Given the description of an element on the screen output the (x, y) to click on. 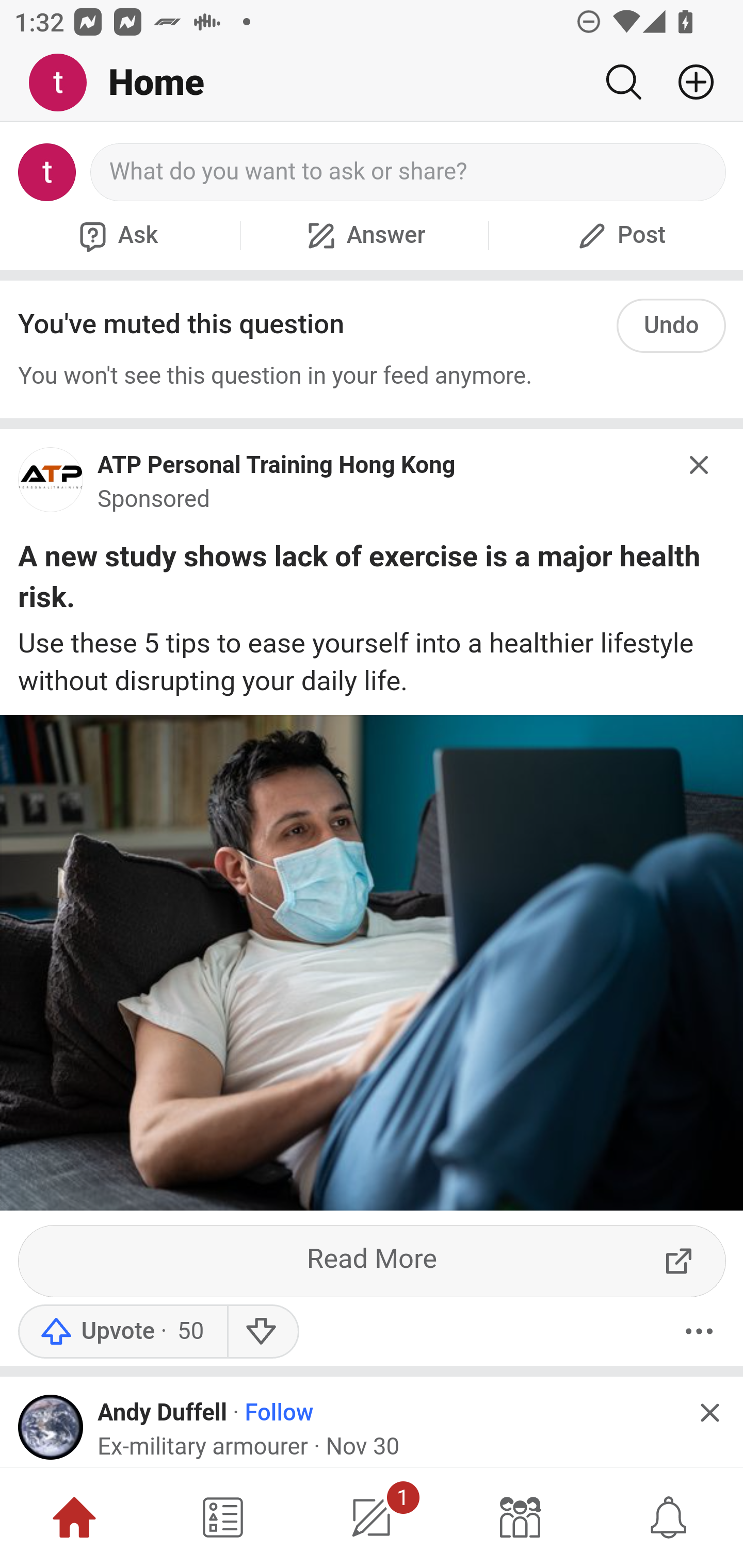
Me (64, 83)
Search (623, 82)
Add (688, 82)
What do you want to ask or share? (408, 172)
Ask (116, 234)
Answer (364, 234)
Post (618, 234)
Undo (671, 324)
Hide (699, 464)
main-qimg-1f396d5a5e054ddd9a425d683de3a2f9 (50, 484)
ATP Personal Training Hong Kong (276, 465)
Sponsored (154, 499)
Read More ExternalLink (372, 1260)
Upvote (122, 1331)
Downvote (262, 1331)
More (699, 1331)
Hide (709, 1413)
Profile photo for Andy Duffell (50, 1426)
Andy Duffell (162, 1412)
Follow (278, 1412)
1 (371, 1517)
